Given the description of an element on the screen output the (x, y) to click on. 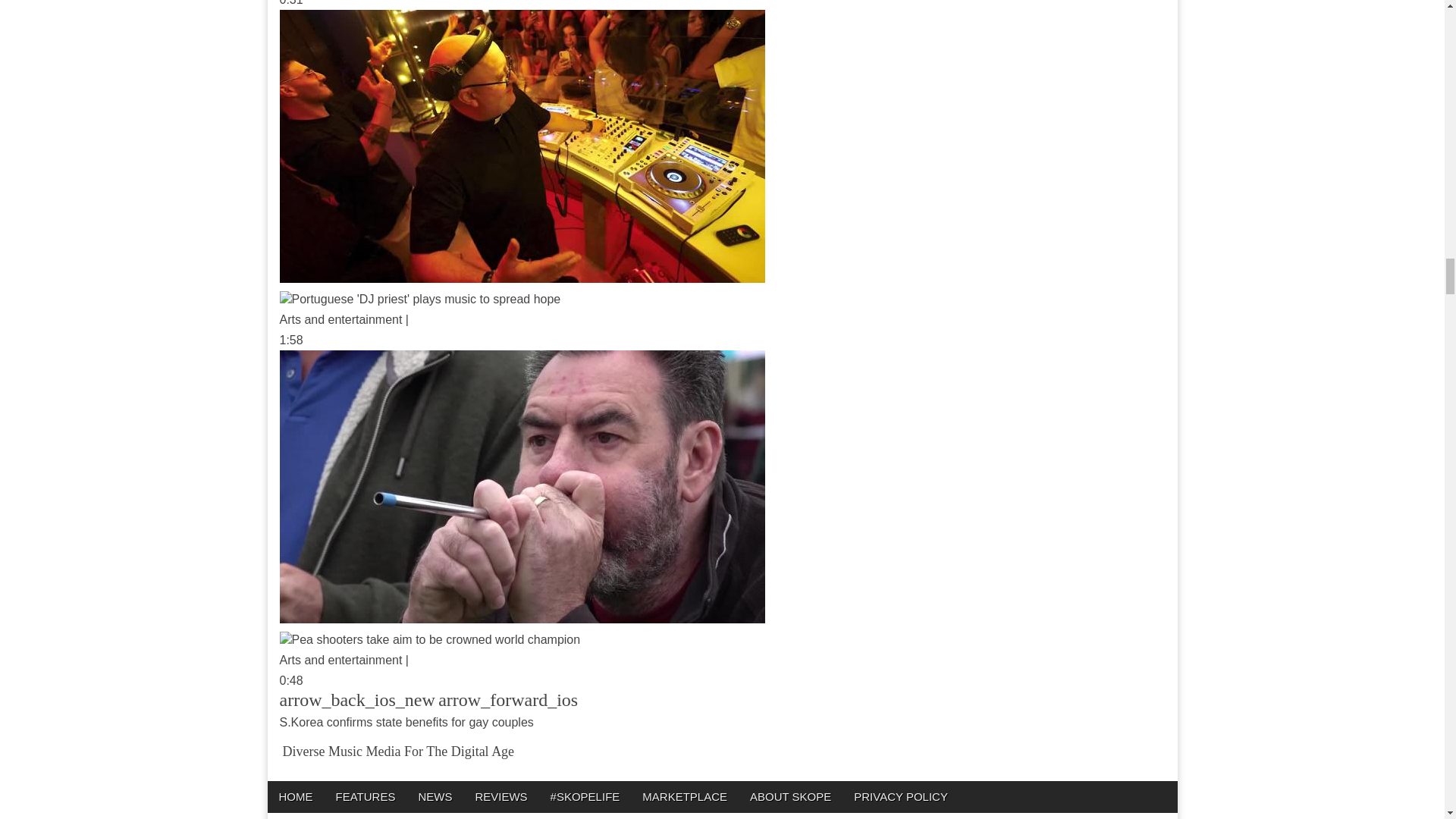
PRIVACY POLICY (901, 796)
NEWS (434, 796)
FEATURES (365, 796)
ABOUT SKOPE (790, 796)
HOME (294, 796)
REVIEWS (500, 796)
MARKETPLACE (684, 796)
